Given the description of an element on the screen output the (x, y) to click on. 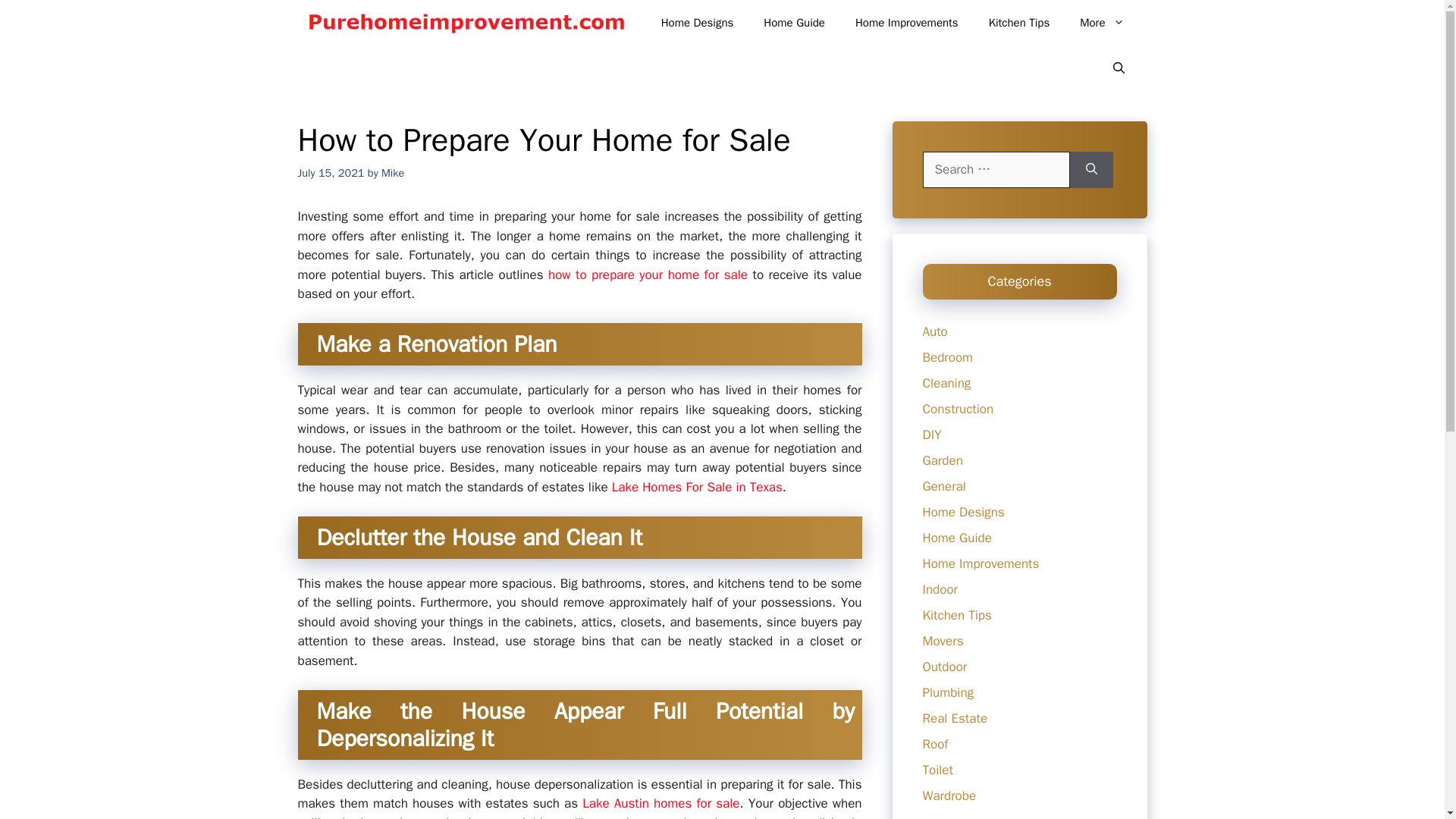
Cleaning (946, 382)
Bedroom (946, 356)
Pure Home Improvement (465, 22)
Lake Homes For Sale in Texas (697, 487)
how to prepare your home for sale (648, 274)
Search for: (994, 169)
General (943, 485)
Auto (934, 330)
Kitchen Tips (956, 614)
View all posts by Mike (392, 172)
Home Improvements (980, 562)
Mike (392, 172)
Lake Austin homes for sale (660, 803)
Home Designs (962, 511)
Construction (956, 408)
